Given the description of an element on the screen output the (x, y) to click on. 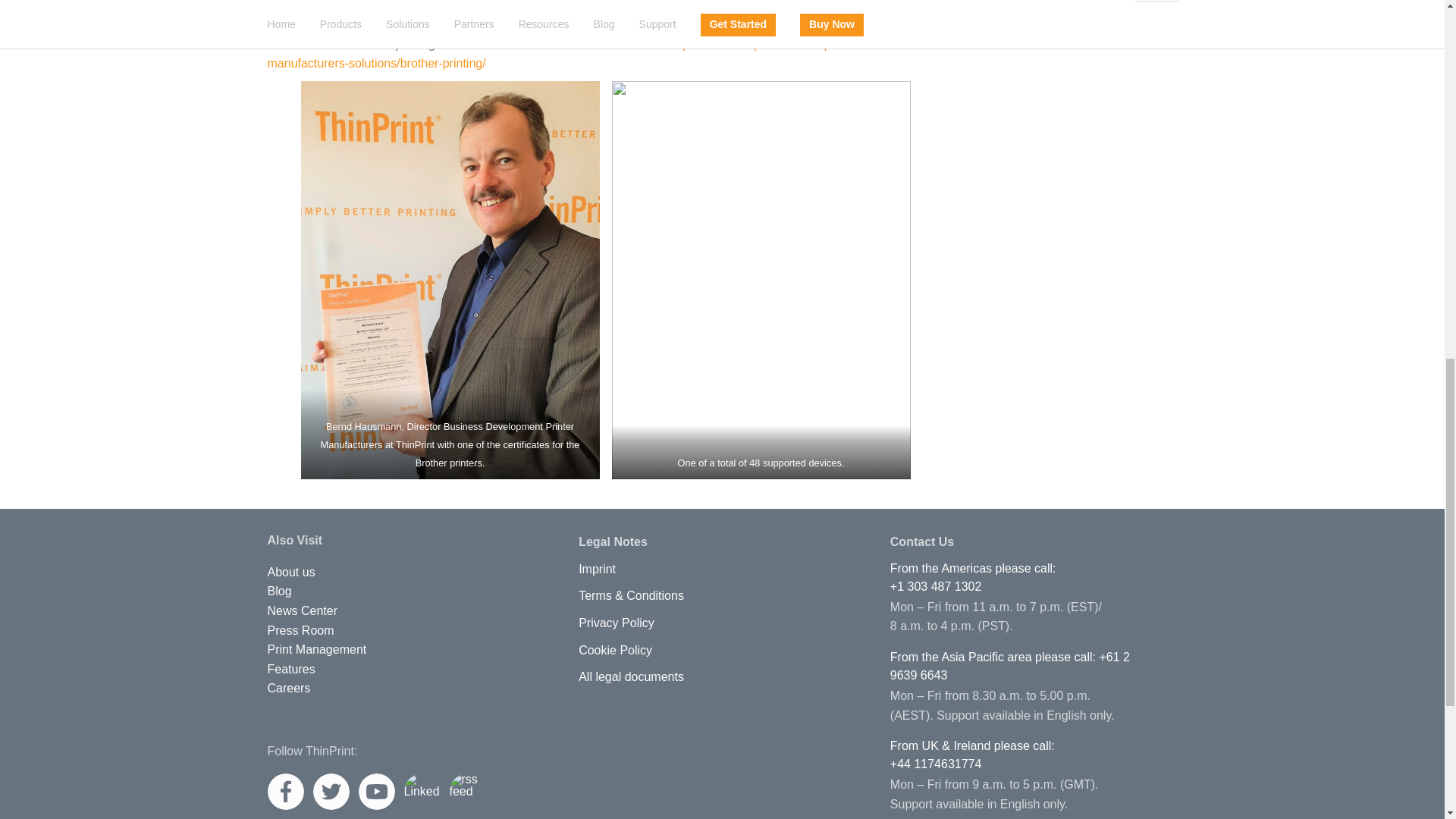
News Center (301, 611)
About ThinPrint (290, 572)
Press Room (299, 630)
Imprint (596, 569)
Print Management (316, 649)
Print Management (316, 649)
ThinPrint Blog (278, 591)
Blog (278, 591)
Press Room (299, 630)
News Center (301, 611)
Careers (288, 688)
Careers (288, 688)
Features (290, 669)
About us (290, 572)
Features (290, 669)
